Given the description of an element on the screen output the (x, y) to click on. 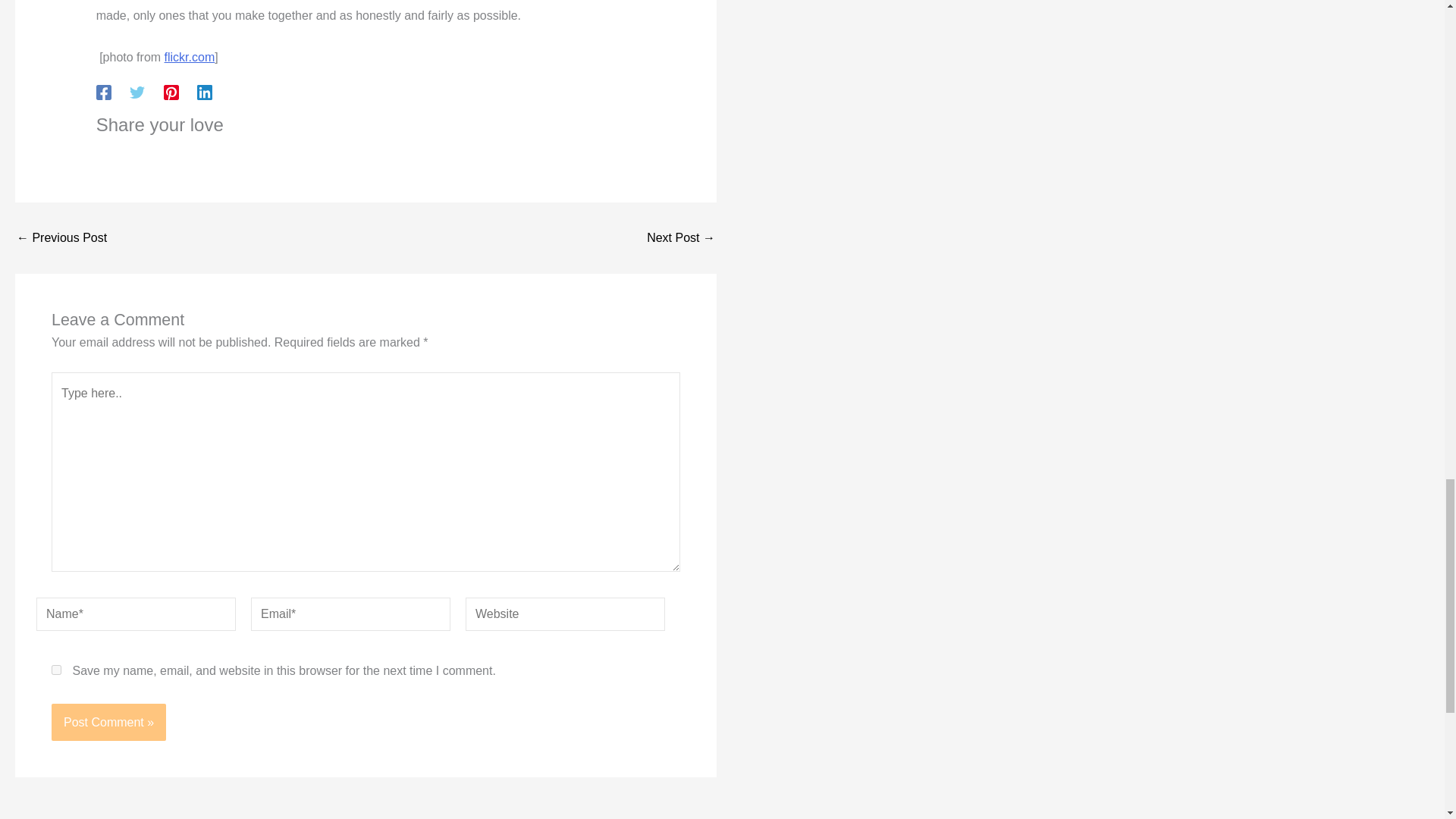
Taurus Monthly Stars September 2012 (680, 237)
Gemini Ukraine Stamp (189, 56)
Cancer Monthly Stars September 2012 (61, 237)
yes (55, 669)
